Given the description of an element on the screen output the (x, y) to click on. 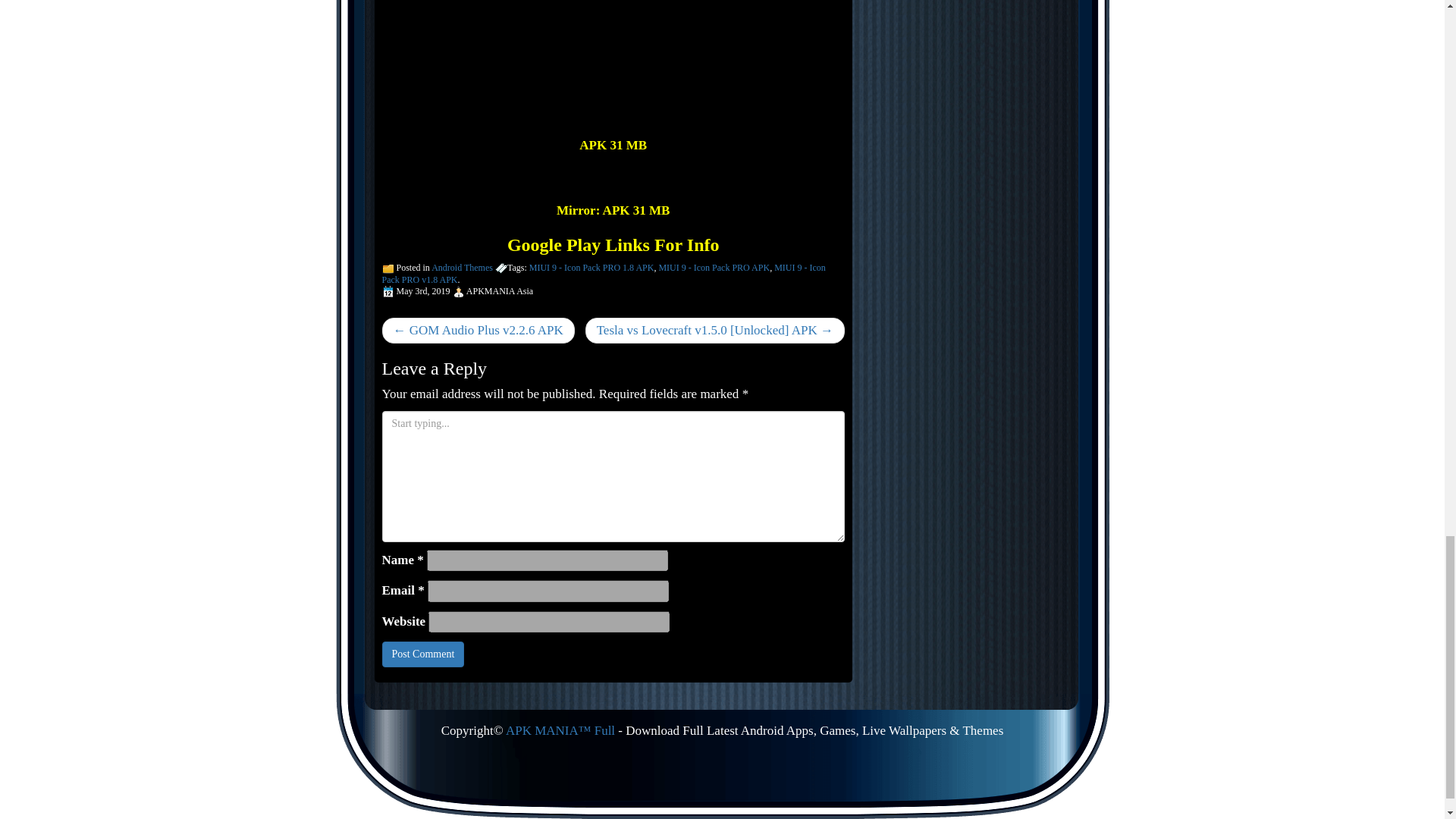
MIUI 9 - Icon Pack PRO v1.8 APK (603, 273)
MIUI 9 - Icon Pack PRO APK (714, 267)
Android Themes (461, 267)
Post Comment (422, 654)
Post Comment (422, 654)
Google Play Links For Info (612, 244)
MIUI 9 - Icon Pack PRO 1.8 APK (591, 267)
